Given the description of an element on the screen output the (x, y) to click on. 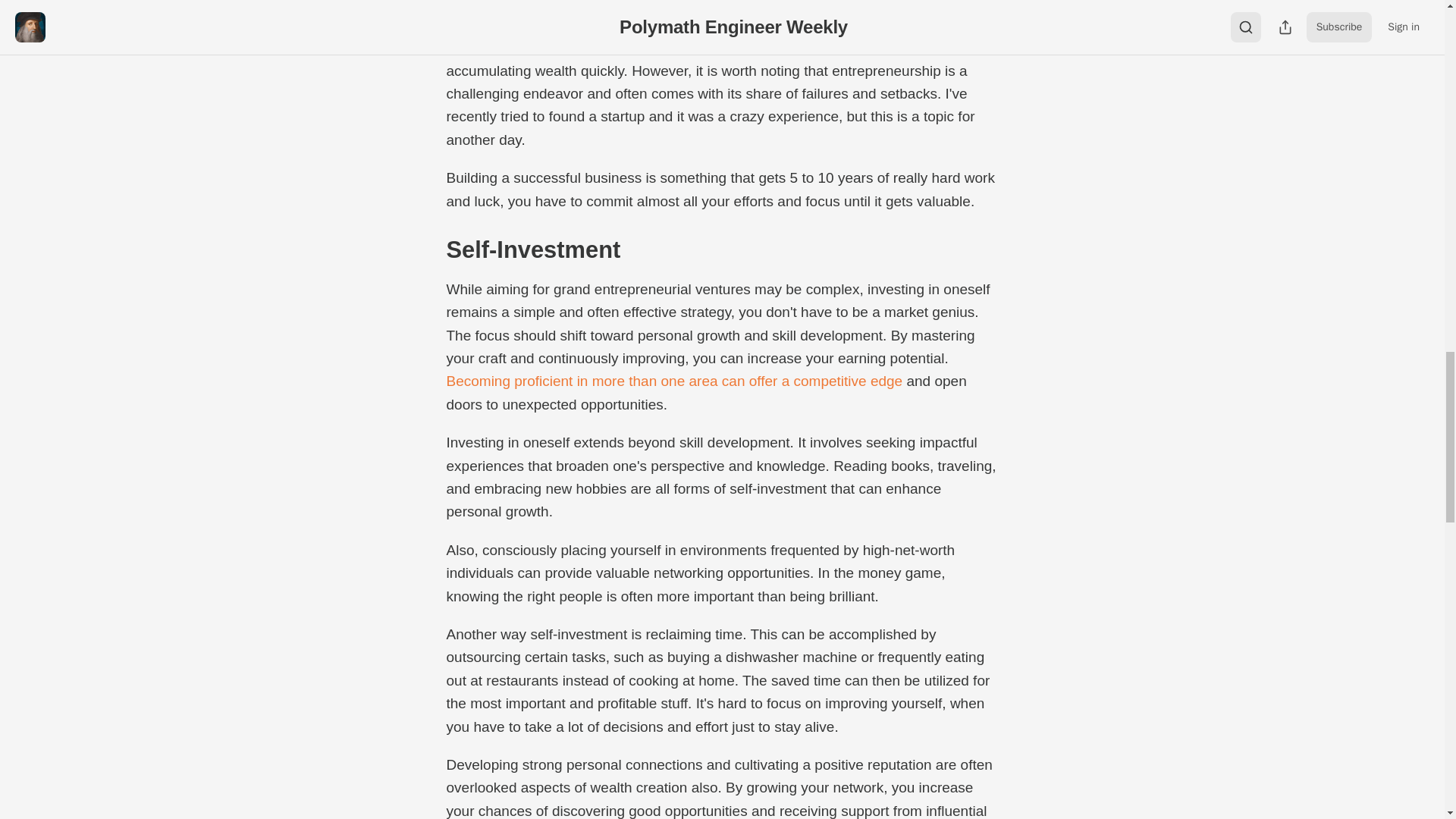
The Millionaire Fastlane (572, 47)
